Given the description of an element on the screen output the (x, y) to click on. 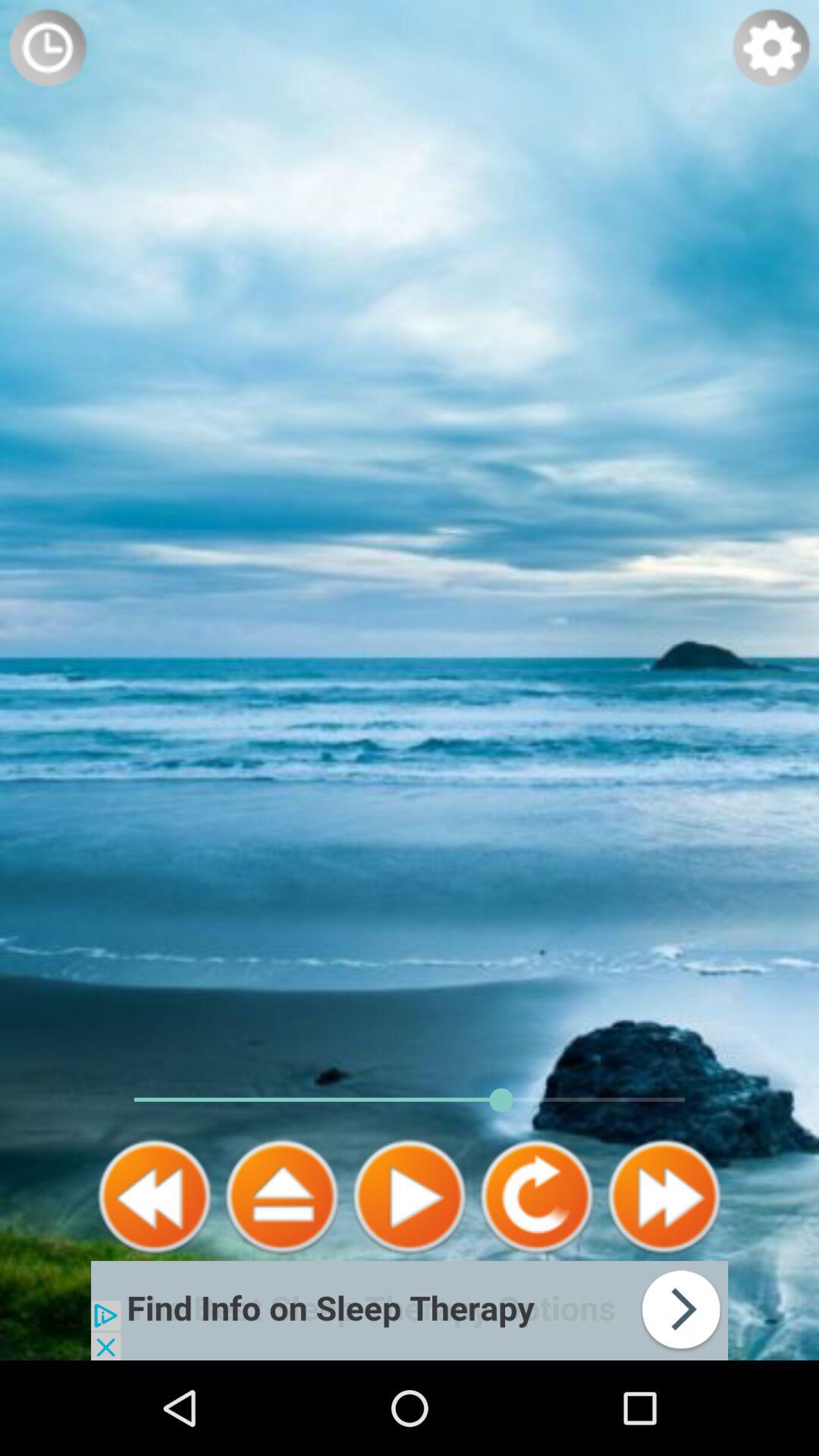
settings button (771, 47)
